Given the description of an element on the screen output the (x, y) to click on. 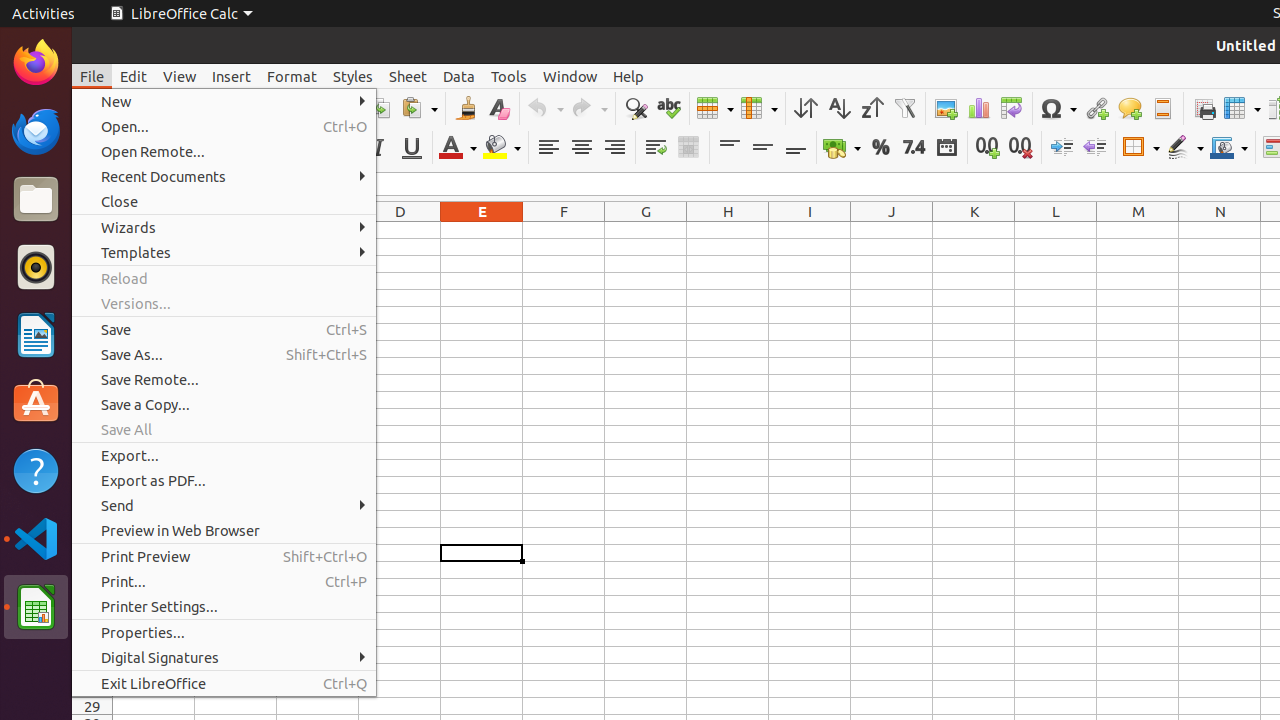
Align Bottom Element type: push-button (795, 147)
Tools Element type: menu (509, 76)
AutoFilter Element type: push-button (904, 108)
Printer Settings... Element type: menu-item (224, 606)
